Given the description of an element on the screen output the (x, y) to click on. 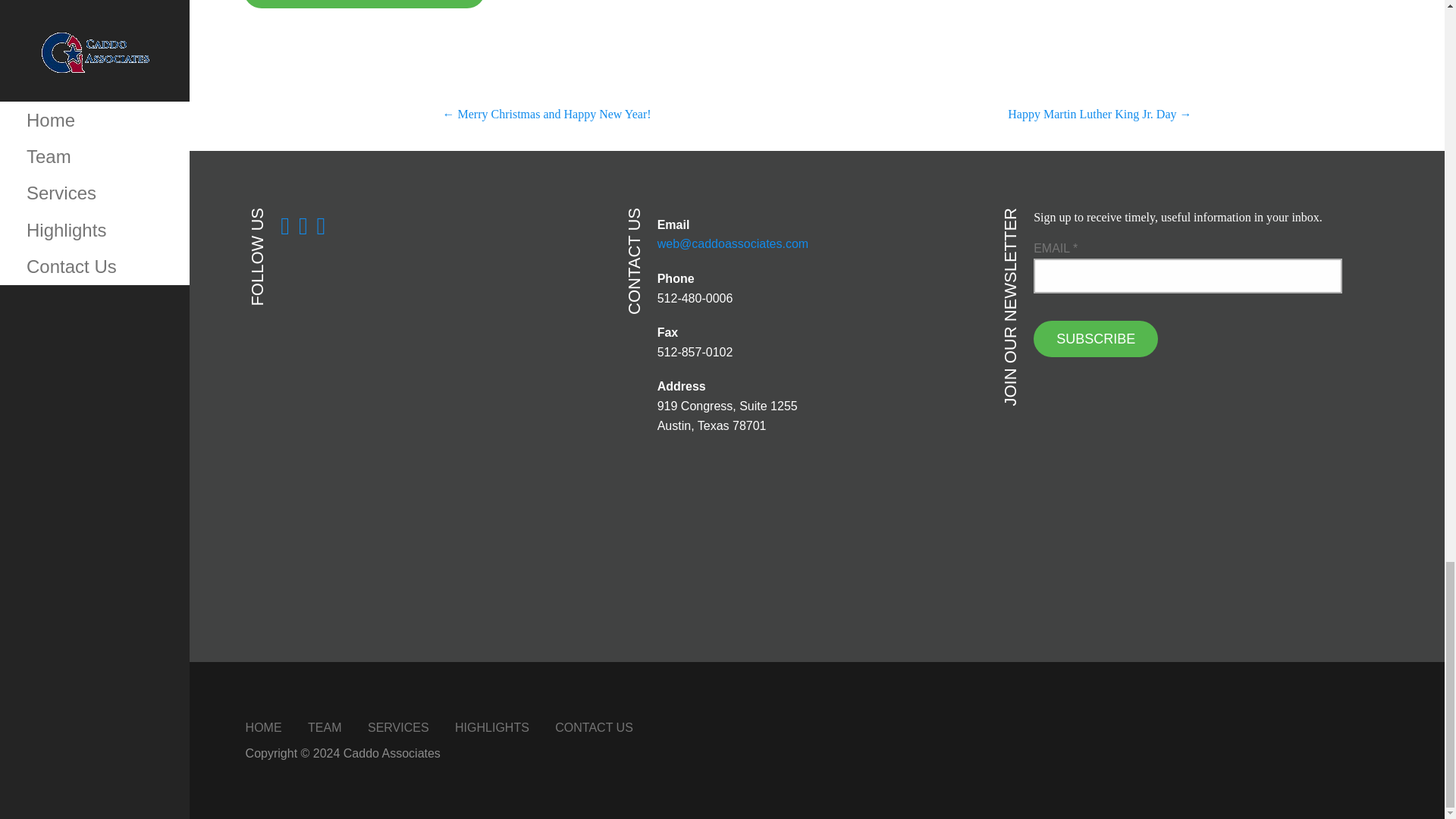
SERVICES (398, 727)
Subscribe (1095, 339)
HIGHLIGHTS (491, 727)
CONTACT US (593, 727)
HOME (264, 727)
Subscribe (1095, 339)
TEAM (323, 727)
Let us know your thoughts! (363, 4)
Let us know your thoughts! (363, 4)
